Given the description of an element on the screen output the (x, y) to click on. 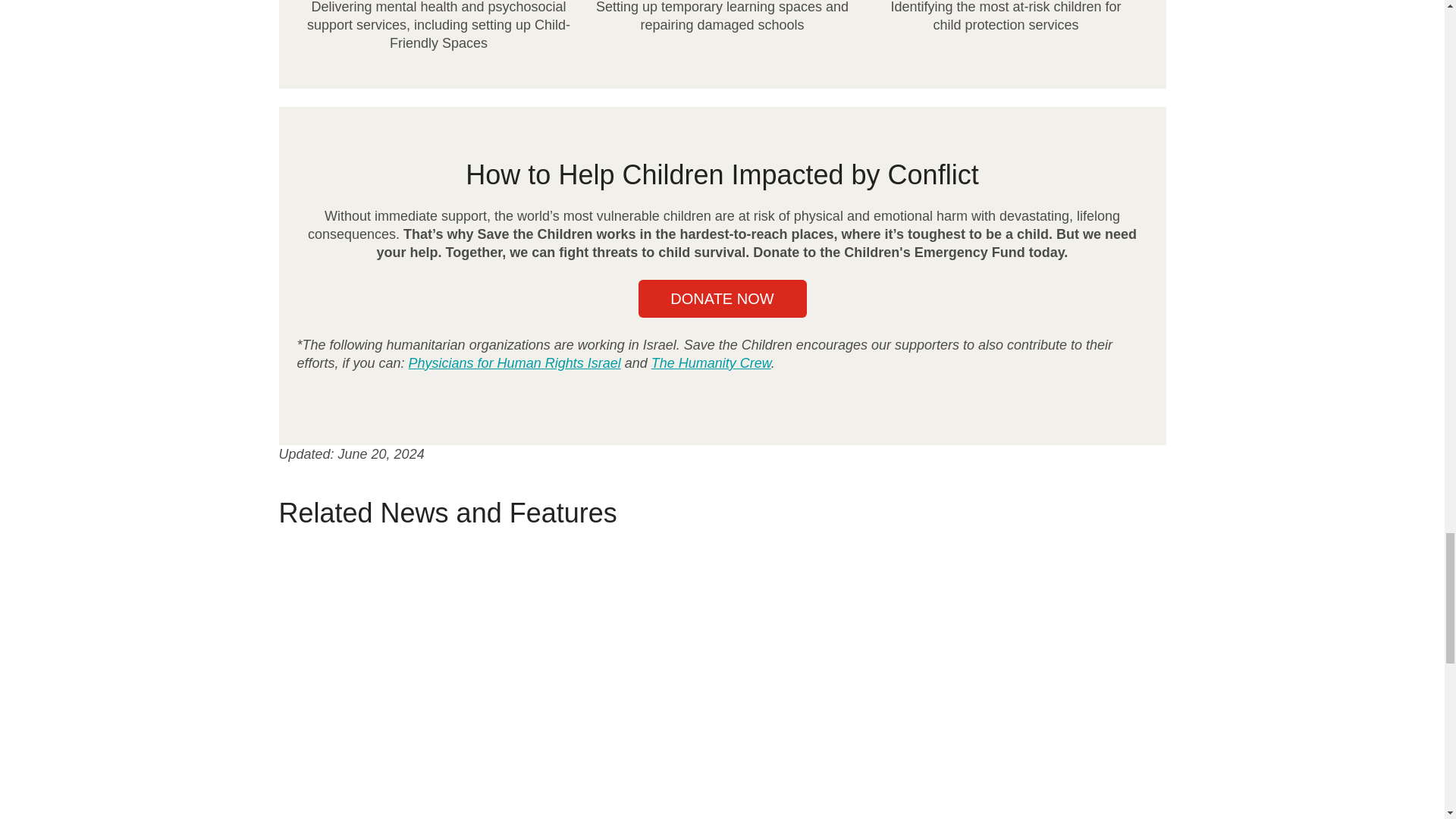
DONATE NOW (722, 298)
